Given the description of an element on the screen output the (x, y) to click on. 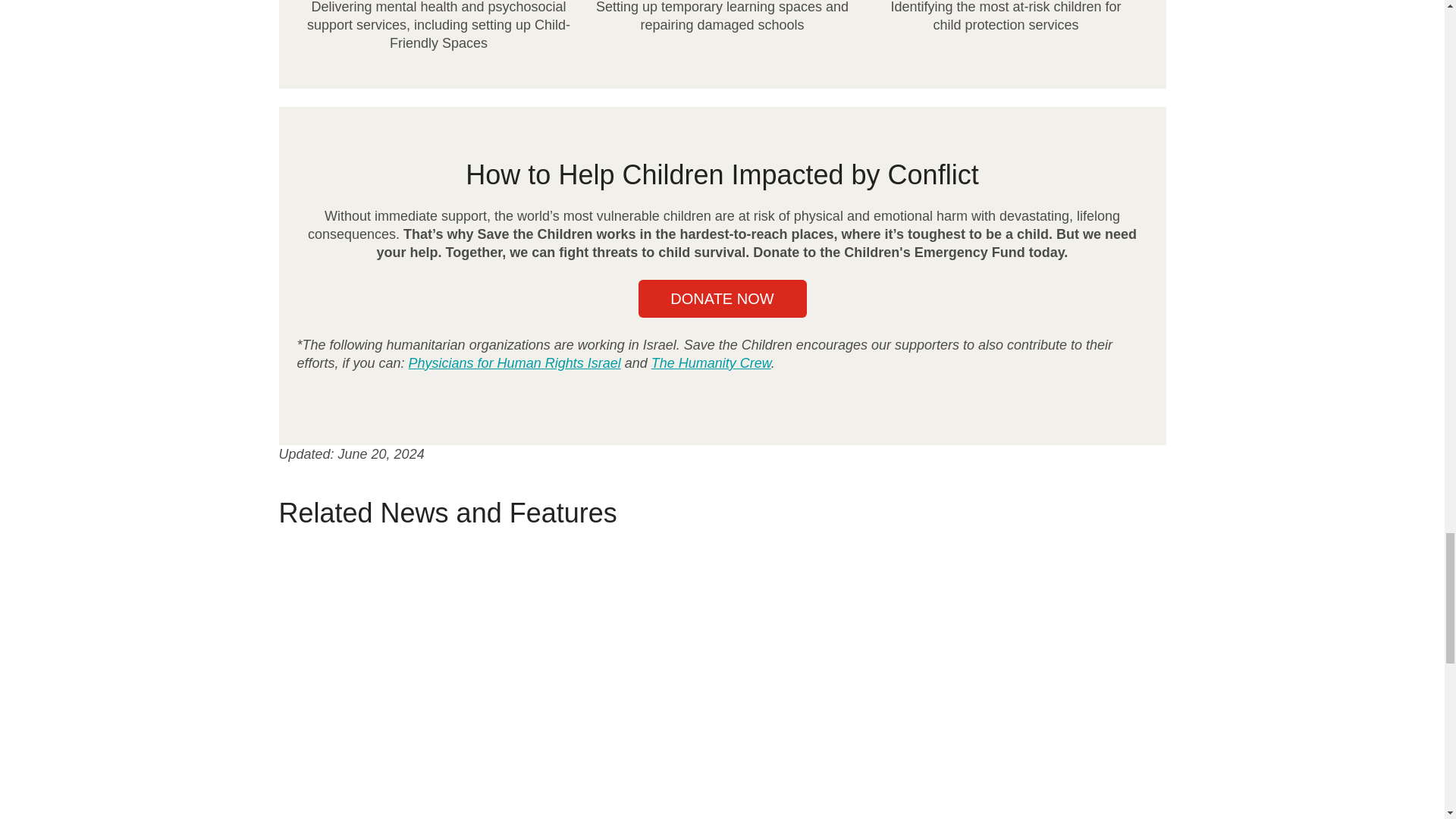
DONATE NOW (722, 298)
